Given the description of an element on the screen output the (x, y) to click on. 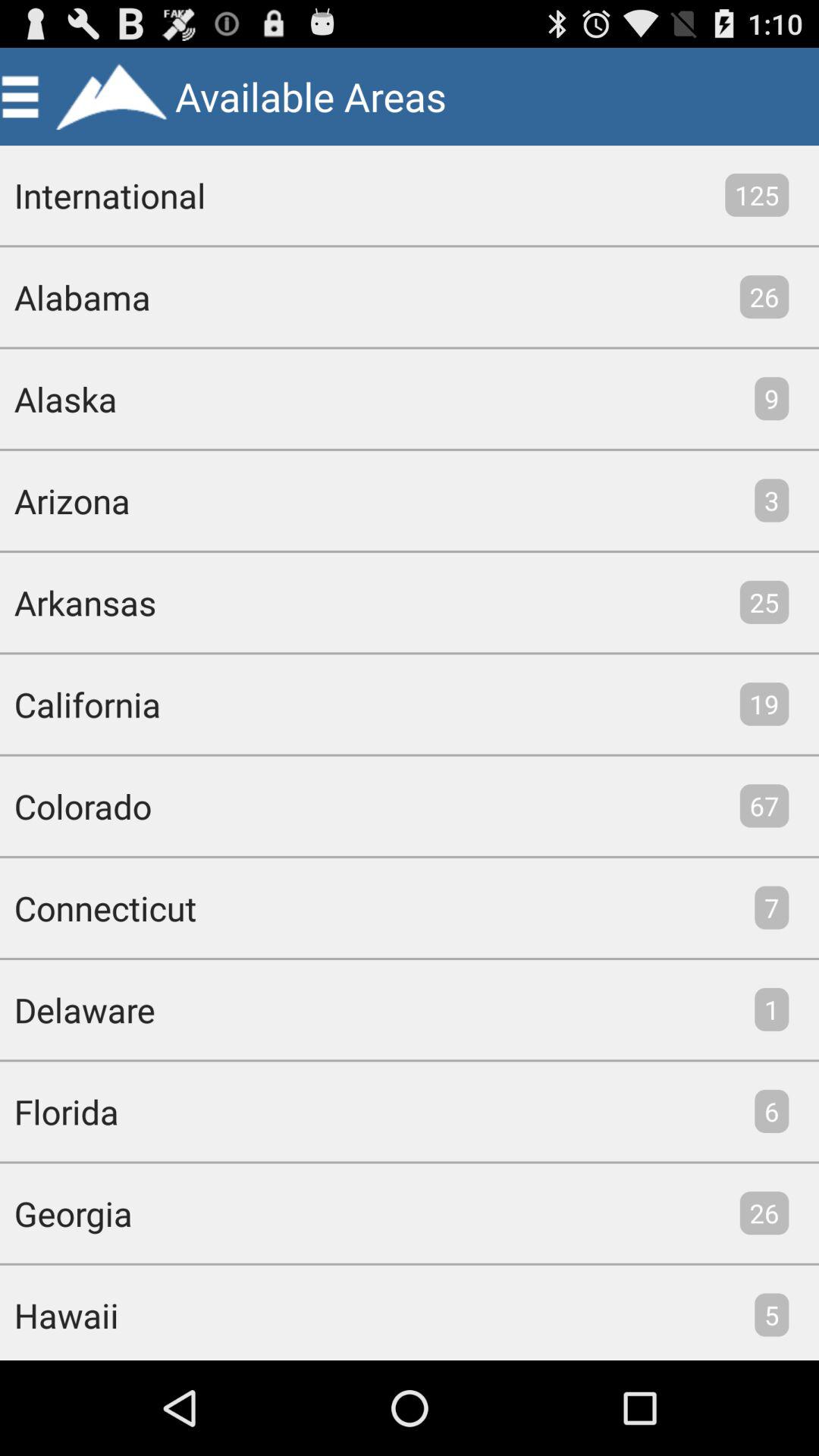
press item above arkansas item (65, 500)
